Given the description of an element on the screen output the (x, y) to click on. 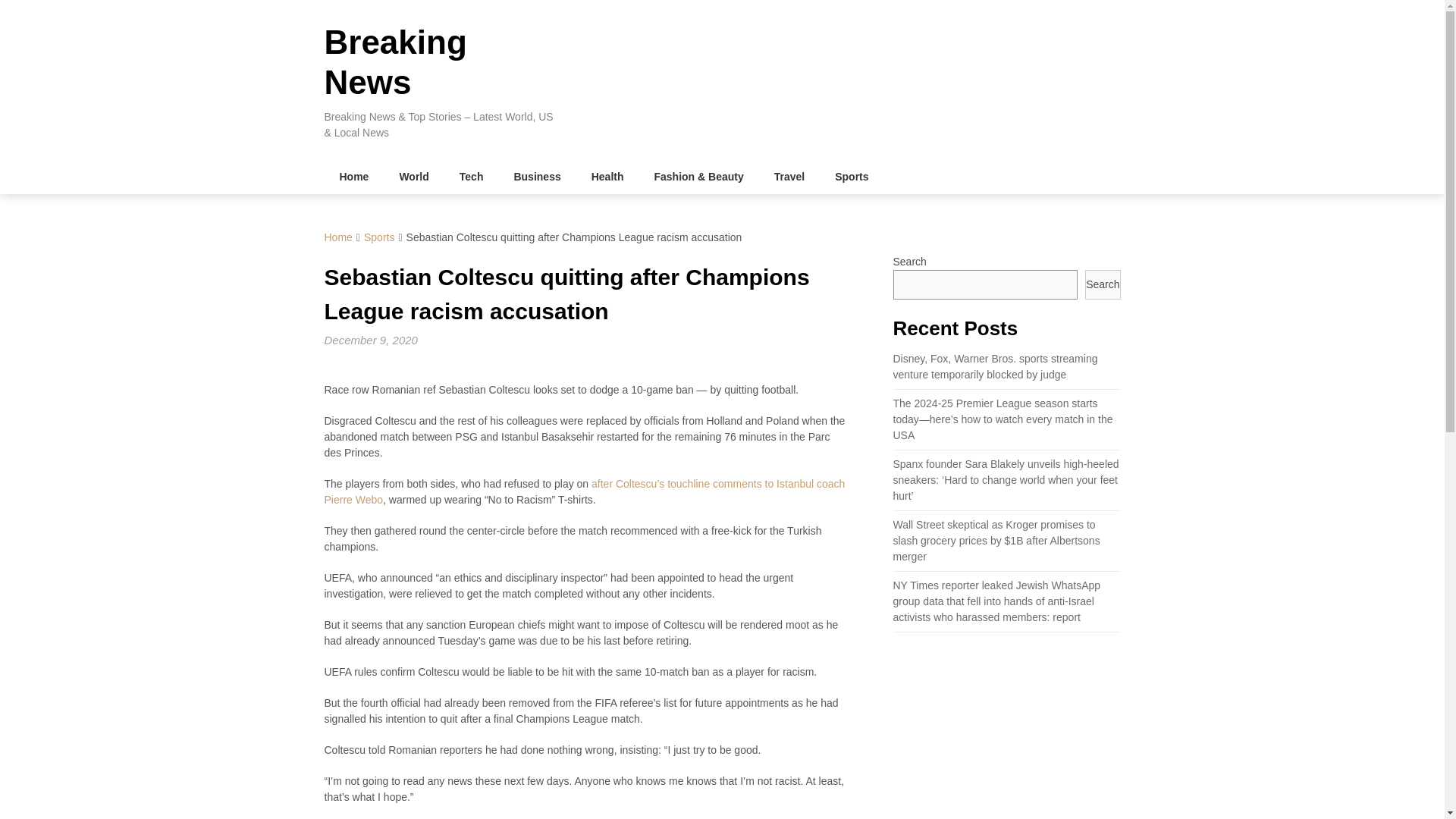
Sports (851, 176)
Travel (788, 176)
Search (1101, 284)
Breaking News (395, 61)
Business (536, 176)
Tech (471, 176)
Home (354, 176)
World (414, 176)
